Given the description of an element on the screen output the (x, y) to click on. 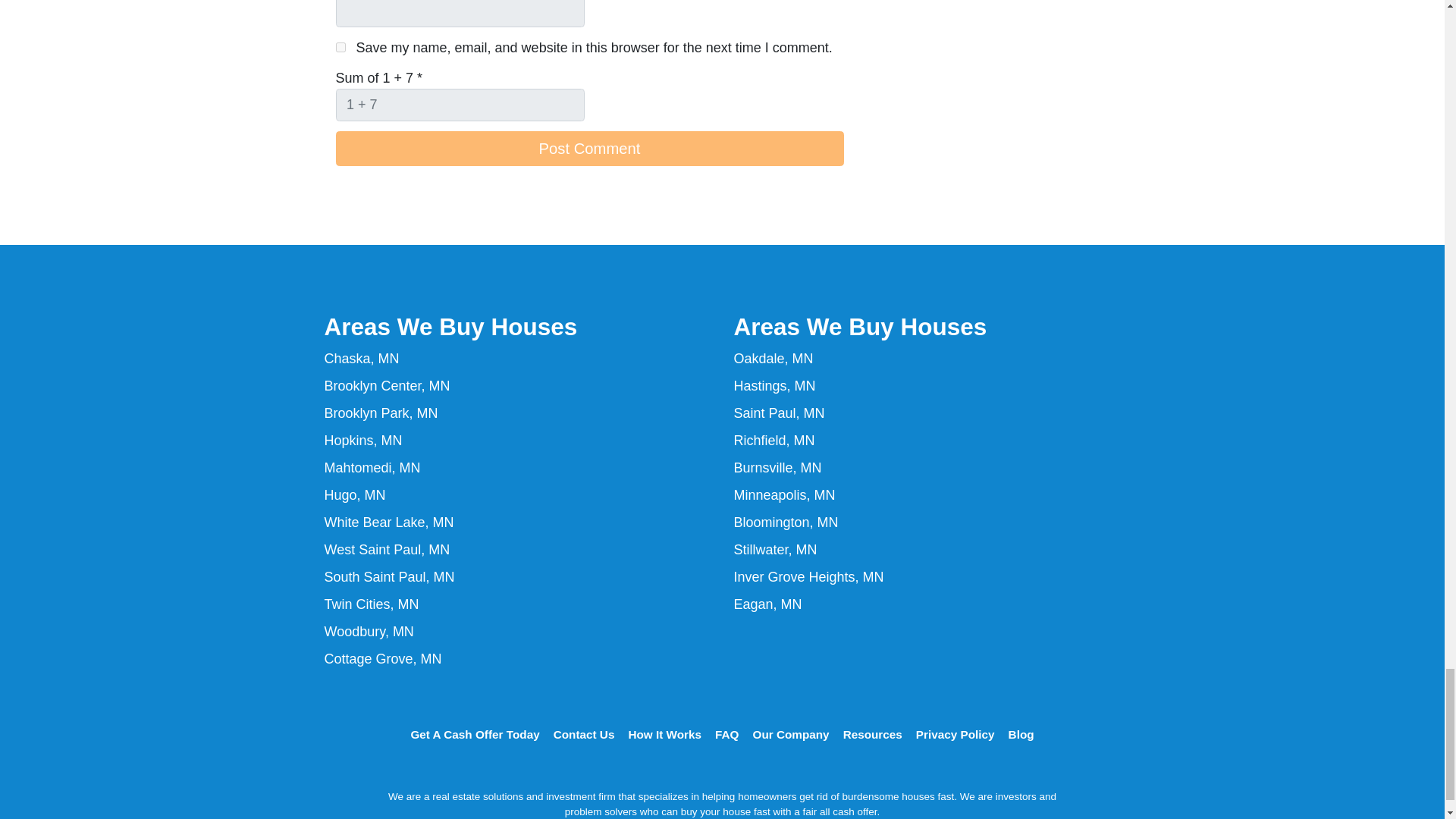
Mahtomedi, MN (372, 467)
Post Comment (588, 148)
Hopkins, MN (363, 440)
Brooklyn Park, MN (381, 412)
Brooklyn Center, MN (386, 385)
Hugo, MN (354, 494)
West Saint Paul, MN (386, 549)
South Saint Paul, MN (389, 576)
yes (339, 47)
Chaska, MN (361, 358)
Post Comment (588, 148)
White Bear Lake, MN (389, 522)
